Given the description of an element on the screen output the (x, y) to click on. 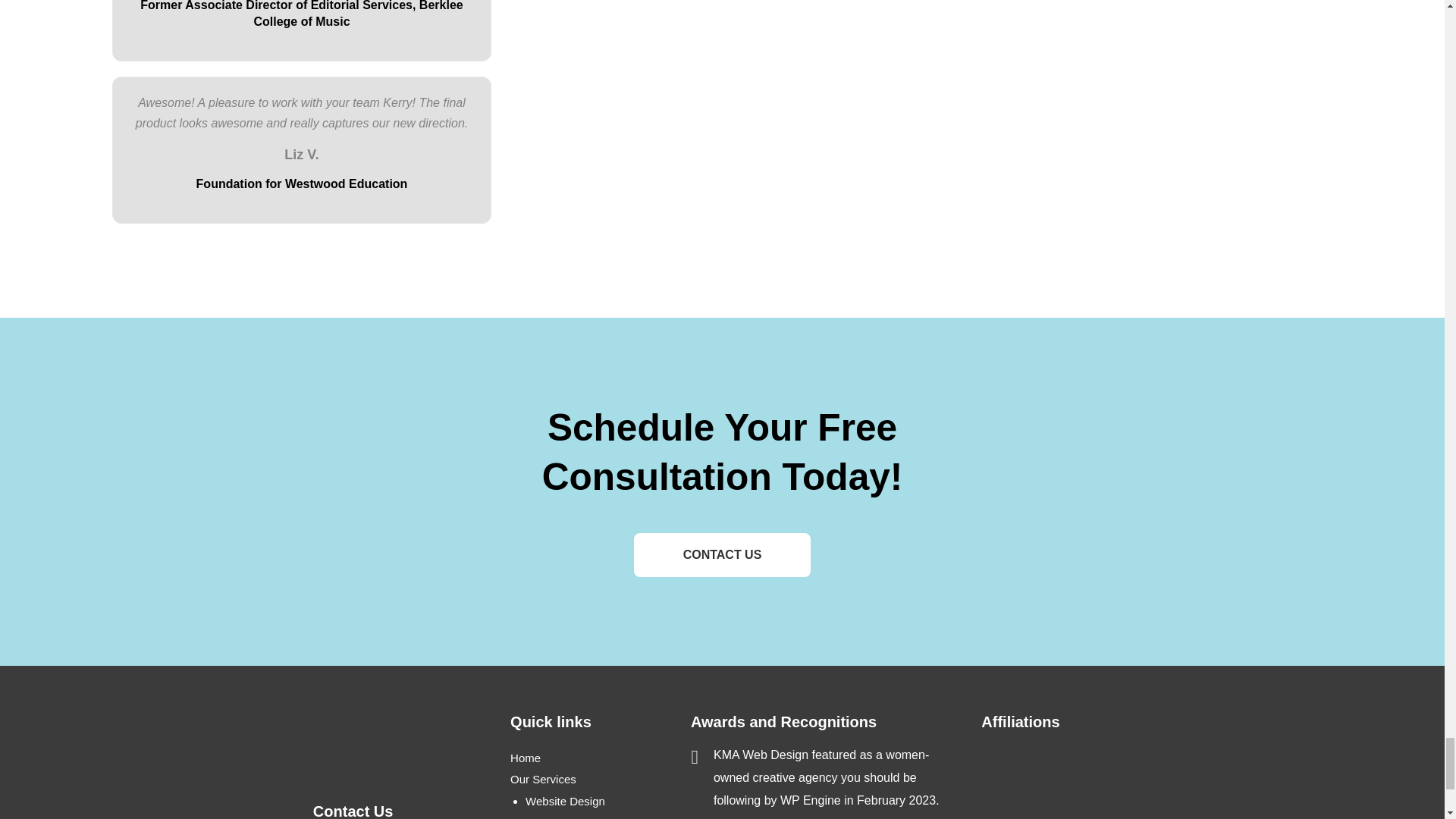
CONTACT US (721, 554)
